Given the description of an element on the screen output the (x, y) to click on. 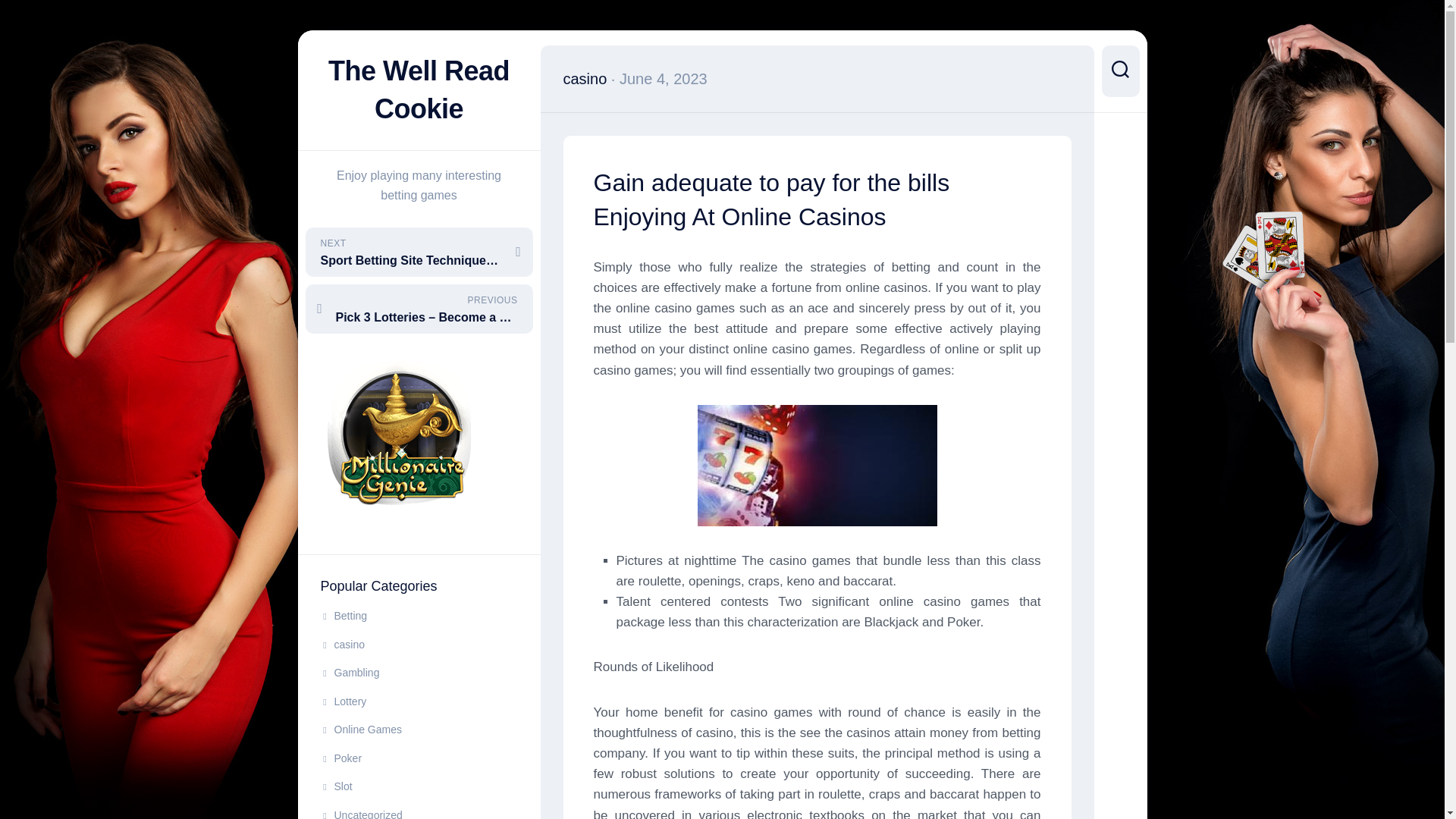
Uncategorized (360, 814)
casino (584, 78)
Slot (336, 786)
Gambling (349, 672)
Online Games (360, 729)
Lottery (343, 701)
Betting (343, 615)
Poker (340, 758)
casino (342, 644)
The Well Read Cookie (418, 89)
